Given the description of an element on the screen output the (x, y) to click on. 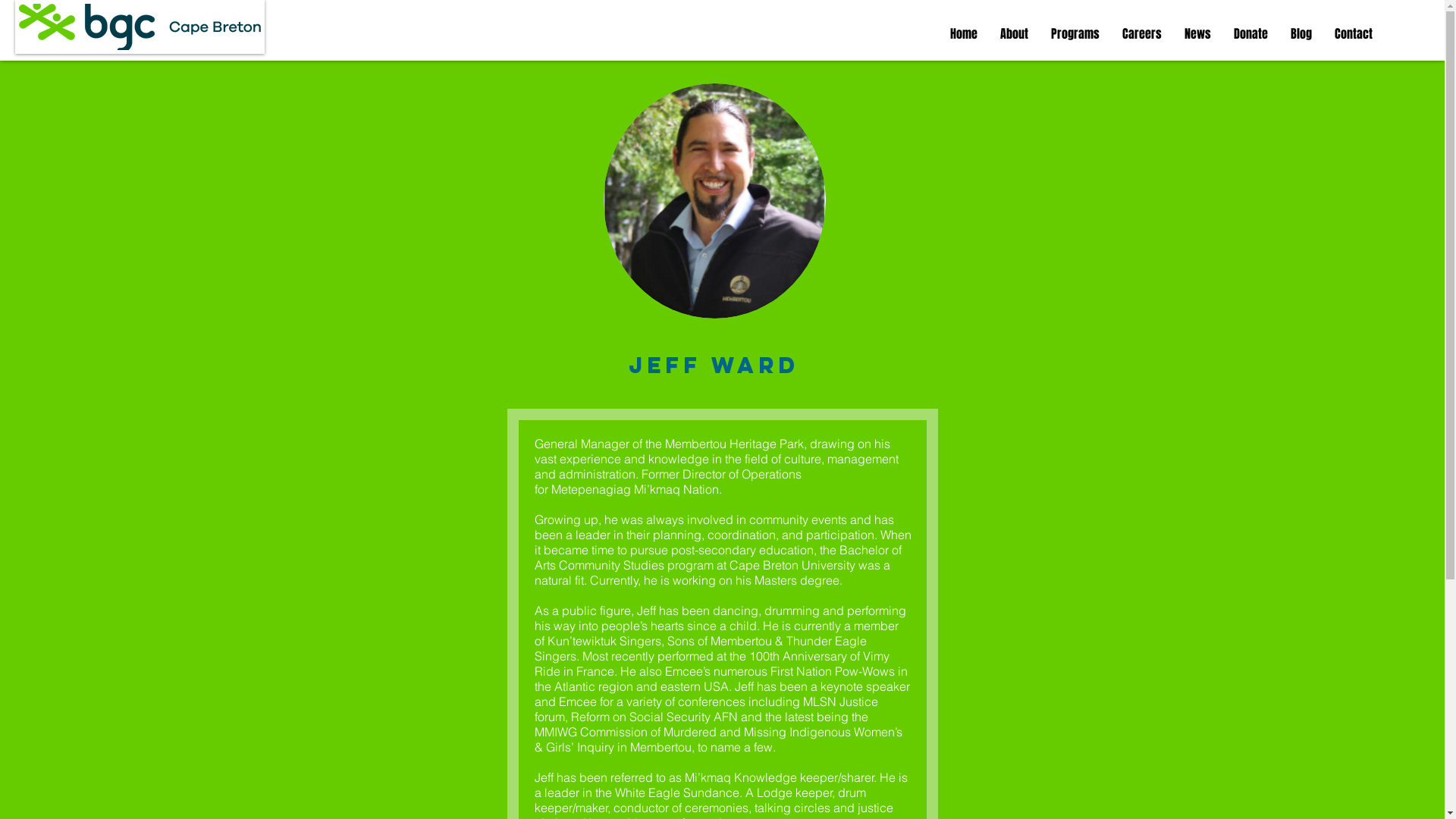
Contact Element type: text (1353, 34)
Home Element type: text (963, 34)
Programs Element type: text (1074, 34)
About Element type: text (1013, 34)
Donate Element type: text (1250, 34)
Blog Element type: text (1301, 34)
News Element type: text (1197, 34)
Careers Element type: text (1141, 34)
